Given the description of an element on the screen output the (x, y) to click on. 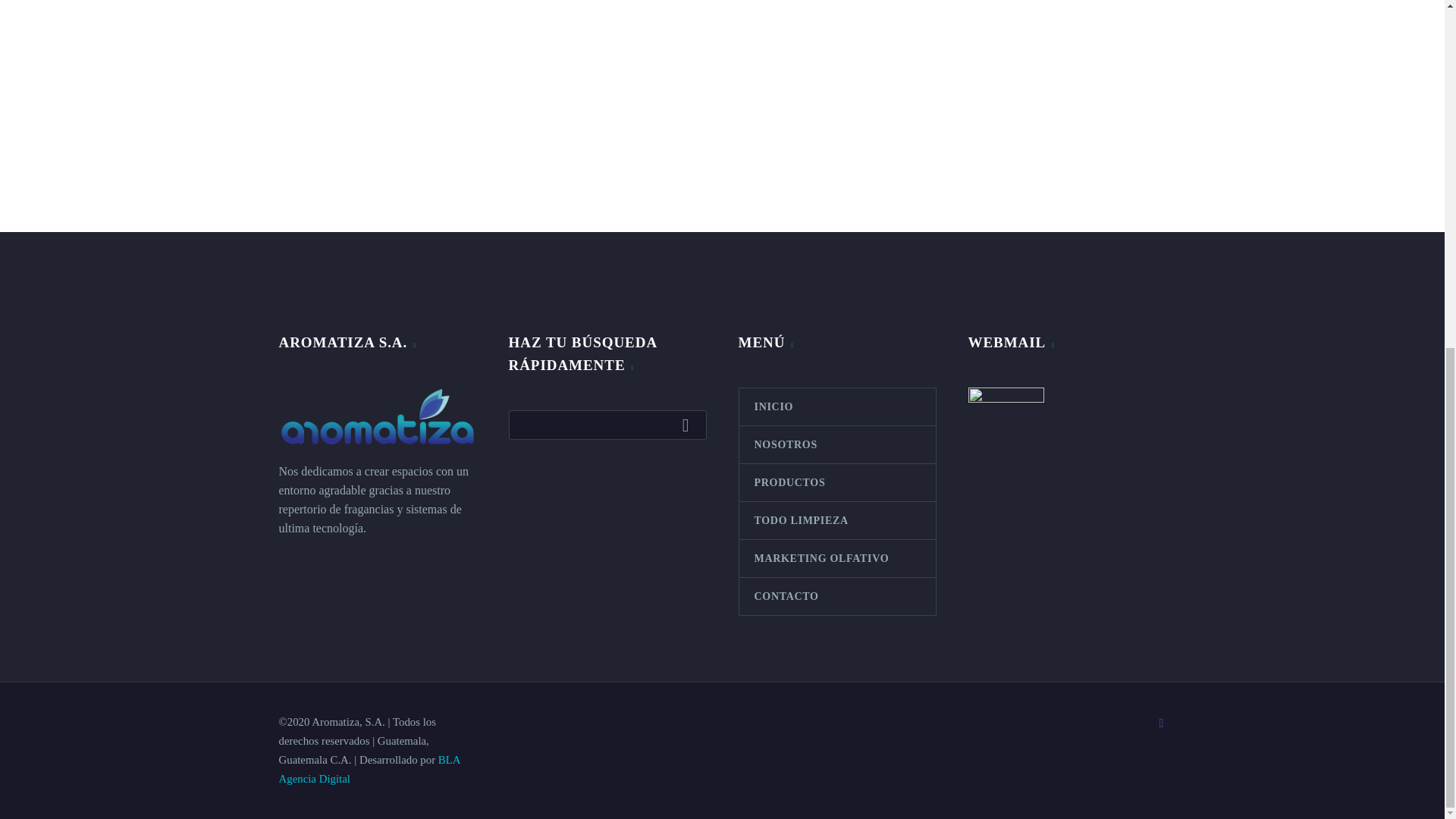
BUSCAR (689, 424)
TODO LIMPIEZA (836, 520)
Facebook (1161, 723)
NOSOTROS (836, 444)
MARKETING OLFATIVO (836, 558)
BLA Agencia Digital (369, 768)
INICIO (836, 406)
CONTACTO (836, 596)
PRODUCTOS (836, 482)
